Given the description of an element on the screen output the (x, y) to click on. 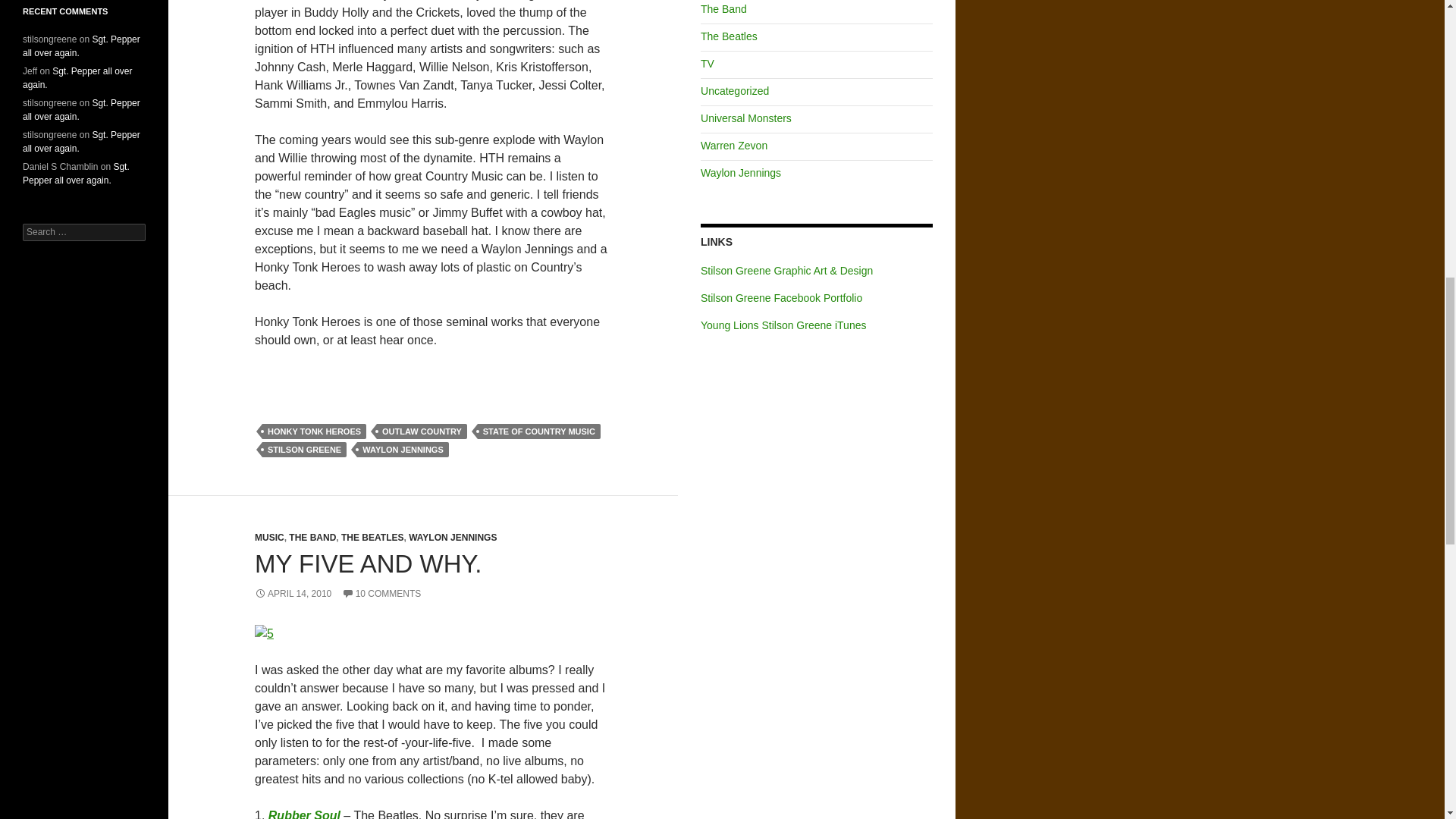
10 COMMENTS (382, 593)
Rubber Soul (305, 814)
WAYLON JENNINGS (402, 449)
STILSON GREENE (304, 449)
MUSIC (268, 537)
APRIL 14, 2010 (292, 593)
THE BAND (312, 537)
STATE OF COUNTRY MUSIC (538, 431)
MY FIVE AND WHY. (367, 563)
THE BEATLES (371, 537)
